Given the description of an element on the screen output the (x, y) to click on. 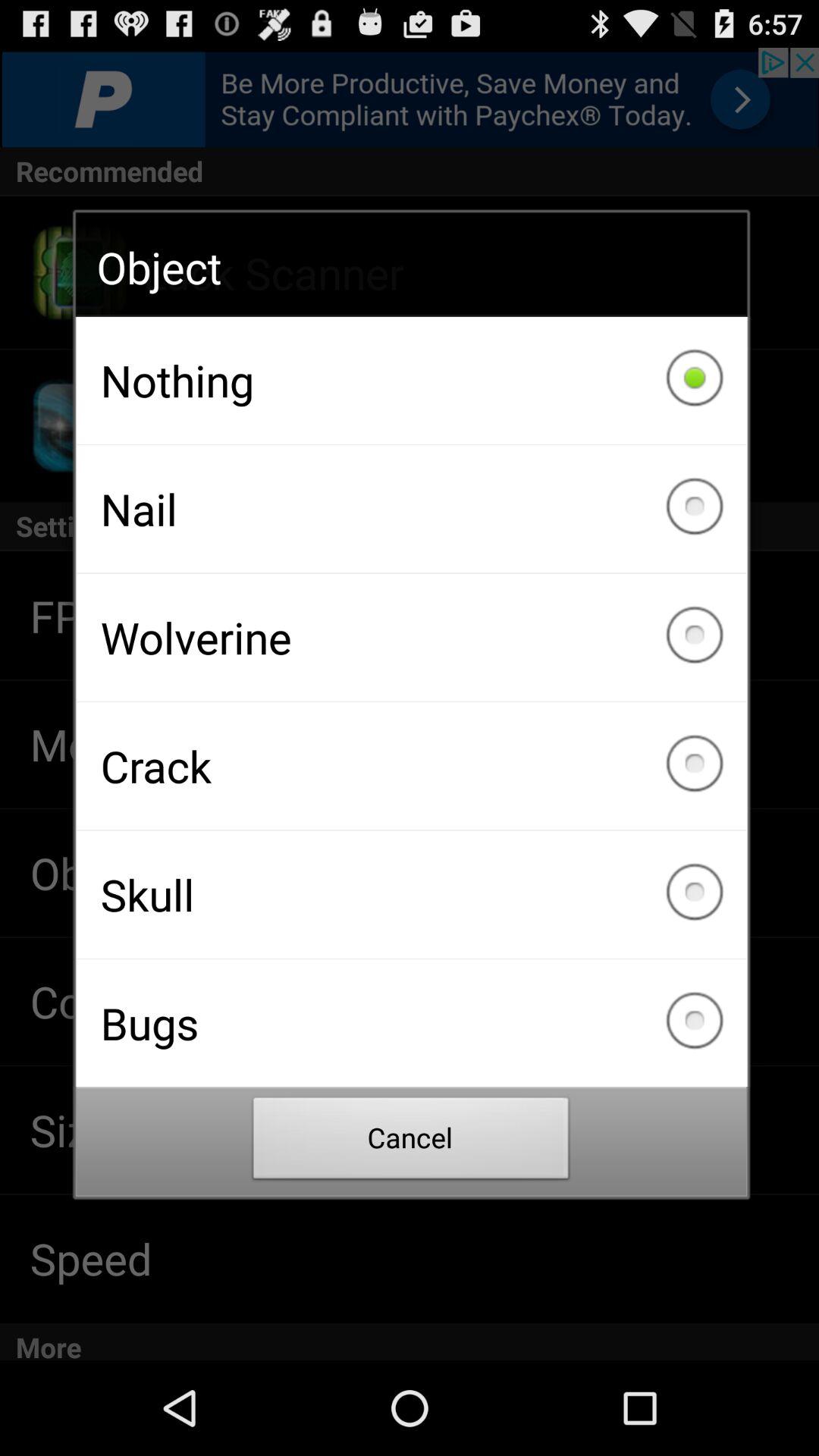
swipe to the cancel (410, 1142)
